Given the description of an element on the screen output the (x, y) to click on. 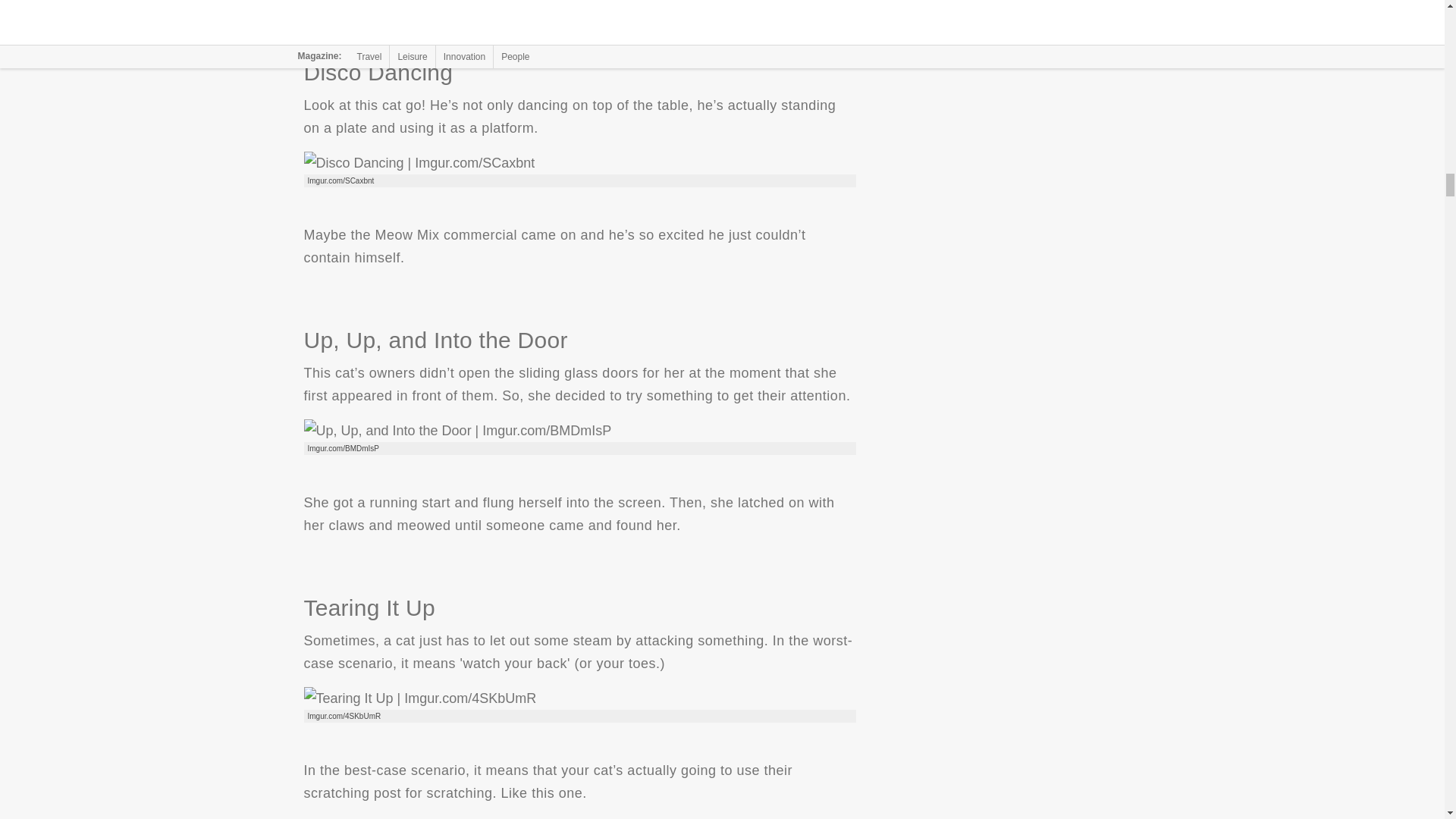
Tearing It Up (418, 698)
Up, Up, and Into the Door (456, 430)
Disco Dancing (418, 162)
